Given the description of an element on the screen output the (x, y) to click on. 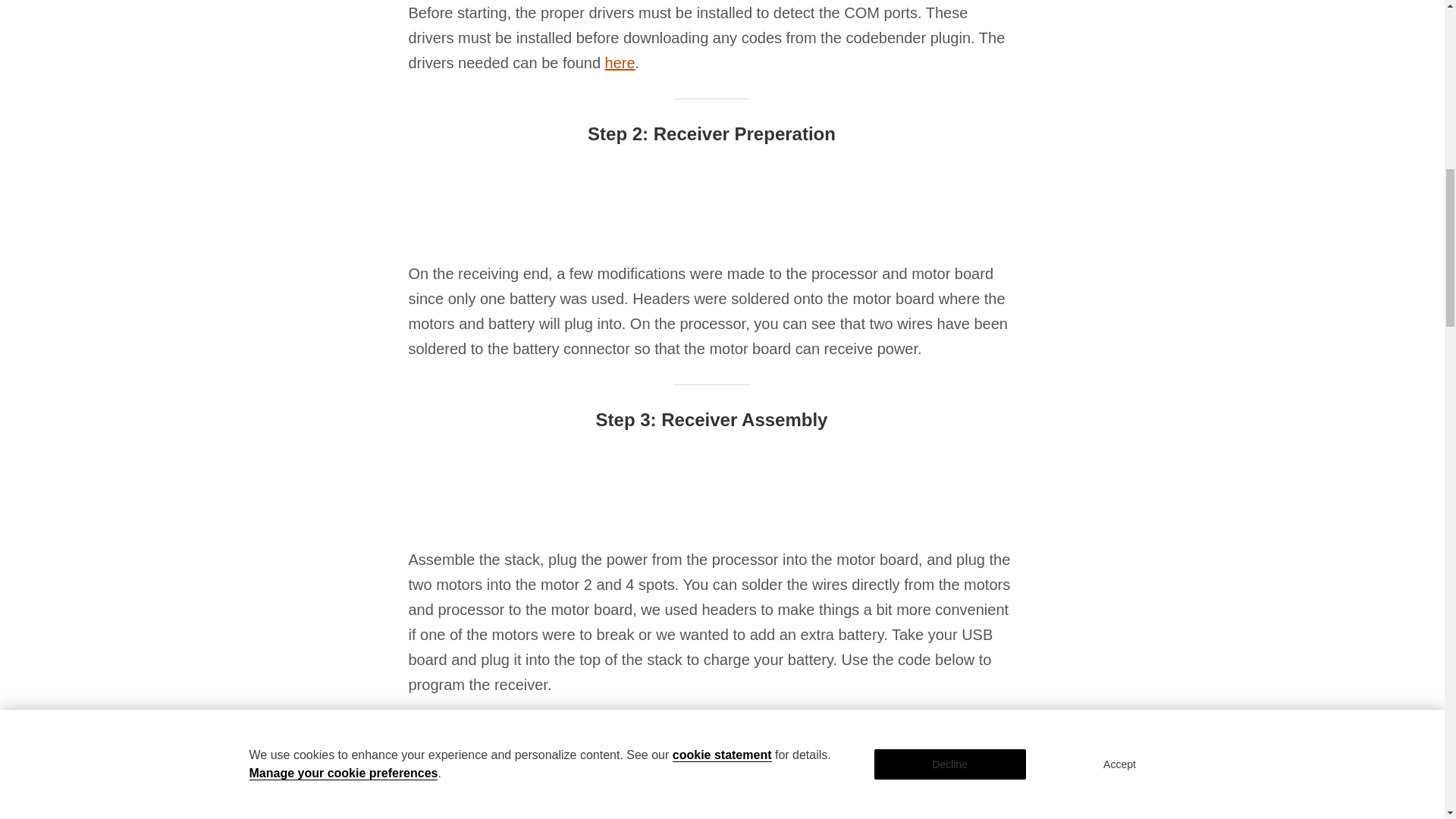
here (619, 62)
